Given the description of an element on the screen output the (x, y) to click on. 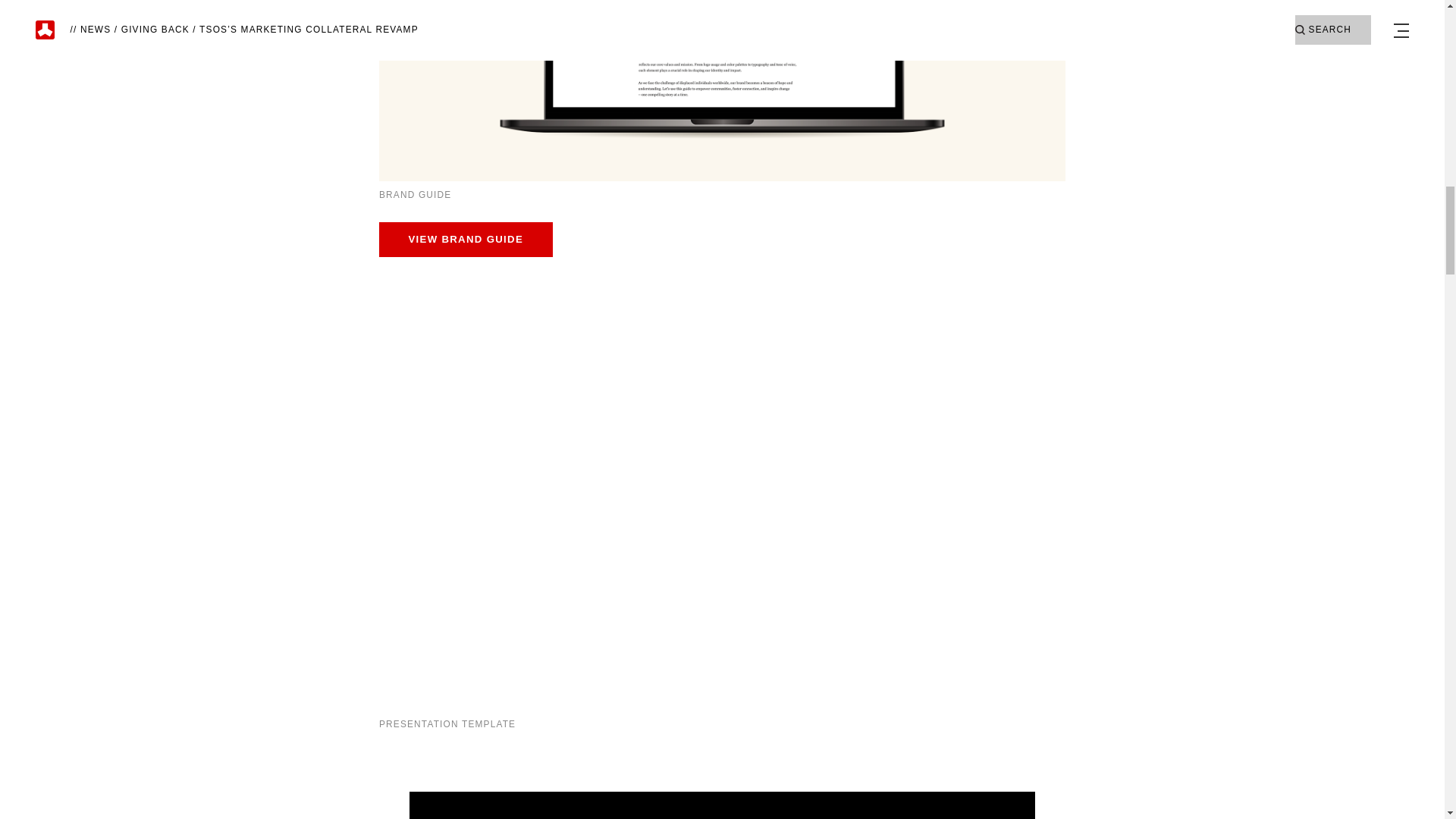
VIEW BRAND GUIDE (465, 239)
